Given the description of an element on the screen output the (x, y) to click on. 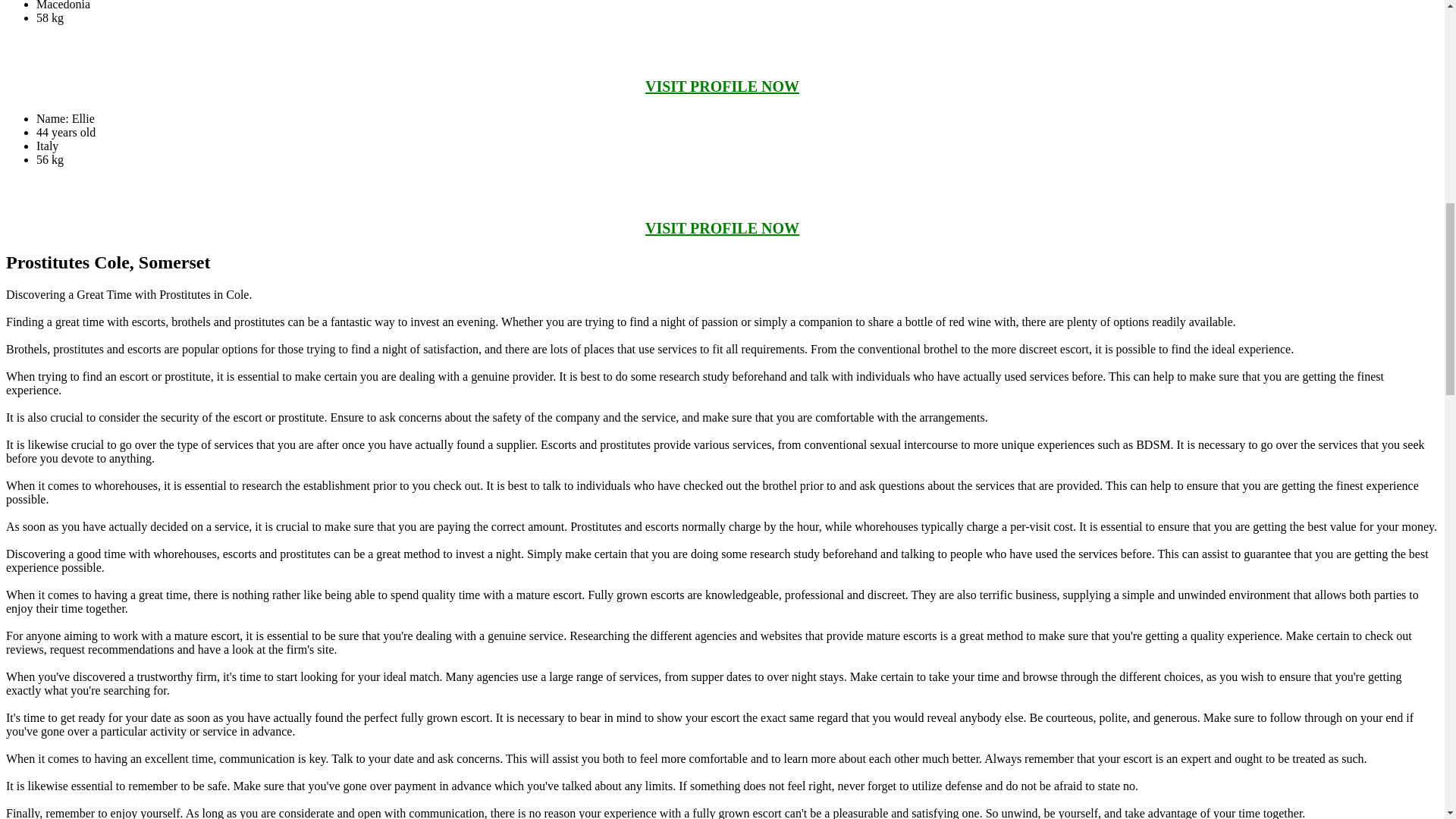
VISIT PROFILE NOW (722, 86)
VISIT PROFILE NOW (722, 228)
